Given the description of an element on the screen output the (x, y) to click on. 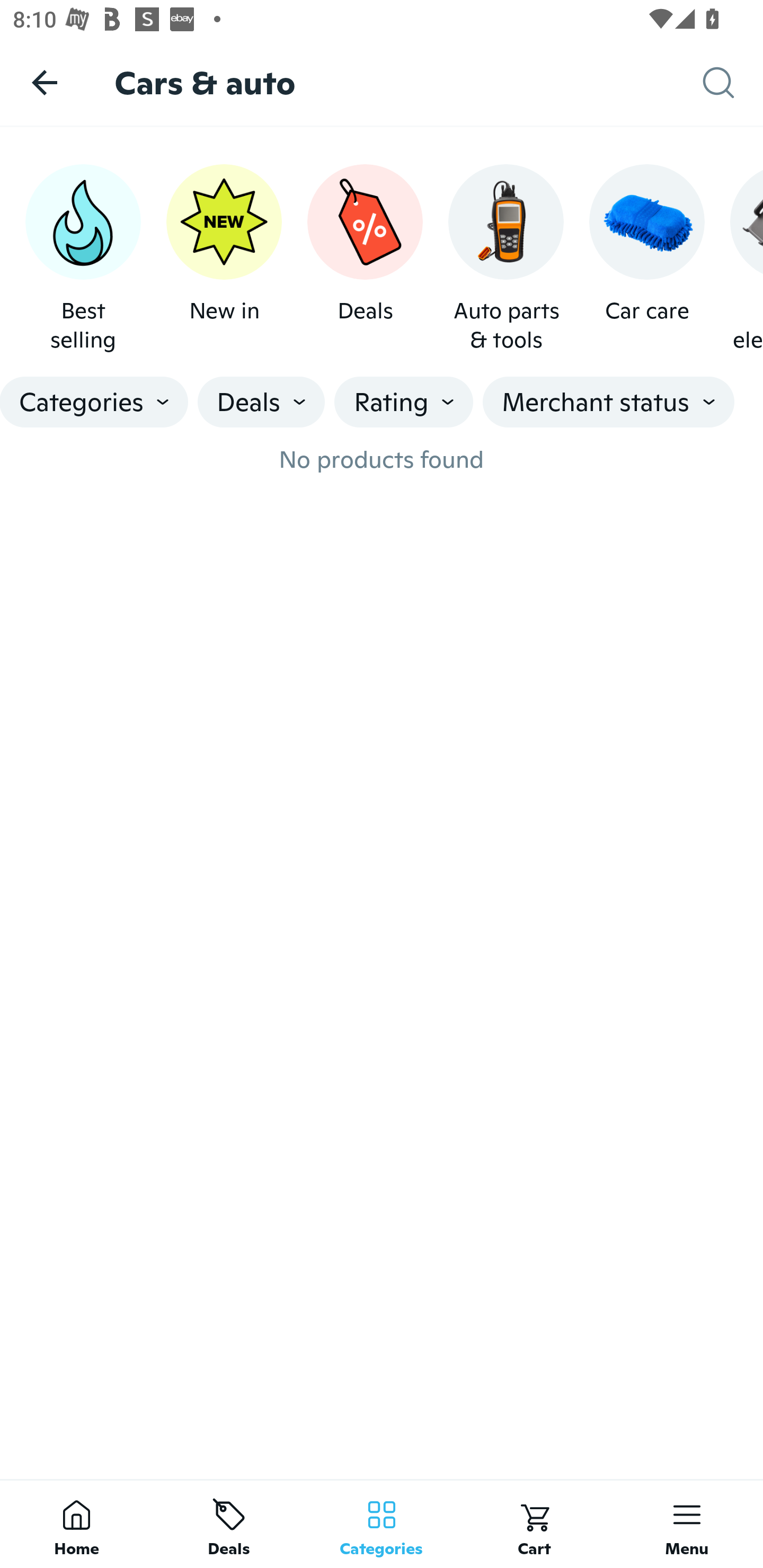
Navigate up (44, 82)
Search (732, 82)
Best selling (83, 259)
New in (223, 259)
Deals (364, 259)
Auto parts & tools (505, 259)
Car care (647, 259)
Categories (94, 402)
Deals (261, 402)
Rating (403, 402)
Merchant status (608, 402)
Home (76, 1523)
Deals (228, 1523)
Categories (381, 1523)
Cart (533, 1523)
Menu (686, 1523)
